Given the description of an element on the screen output the (x, y) to click on. 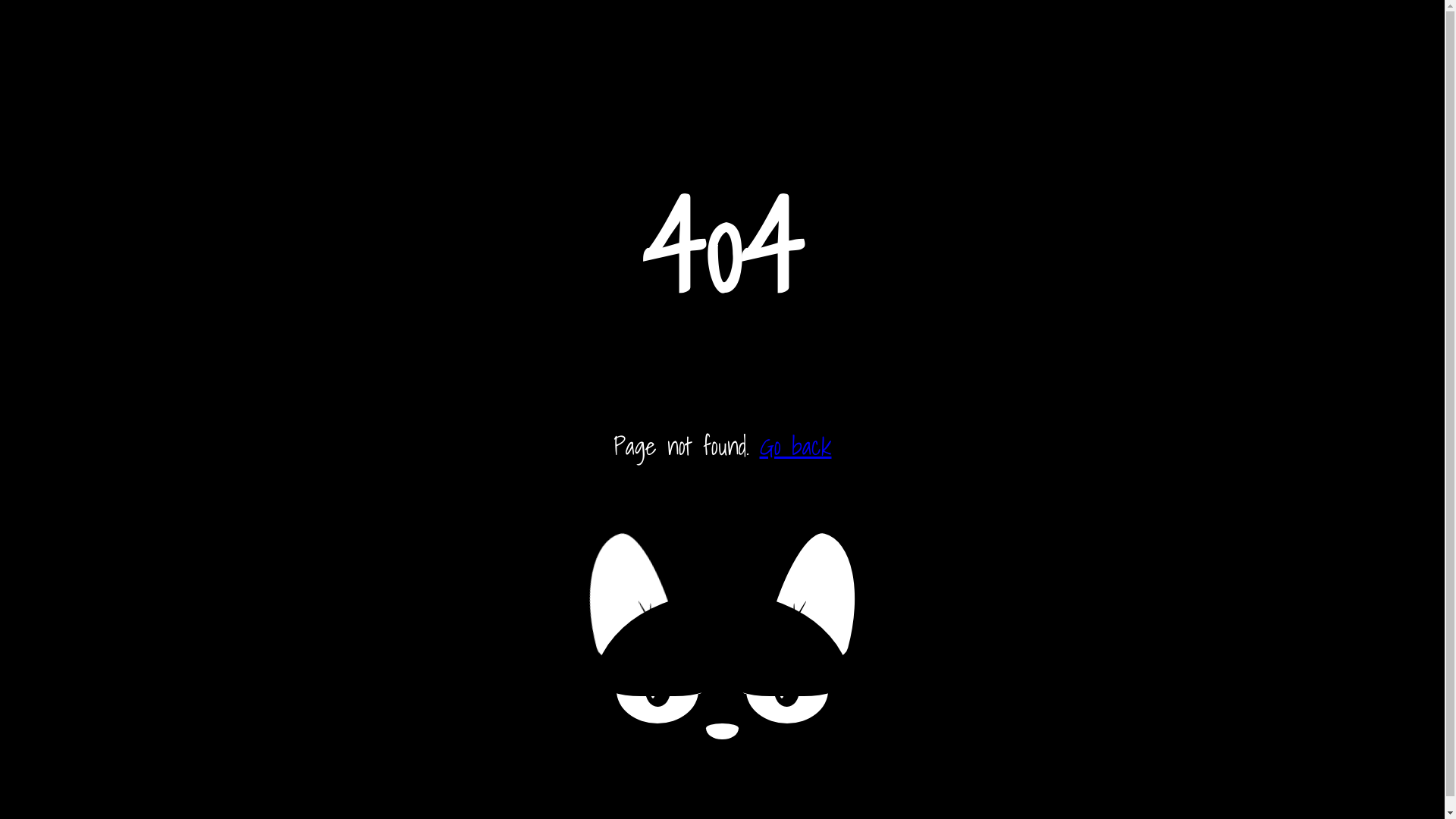
Go back Element type: text (795, 445)
